Given the description of an element on the screen output the (x, y) to click on. 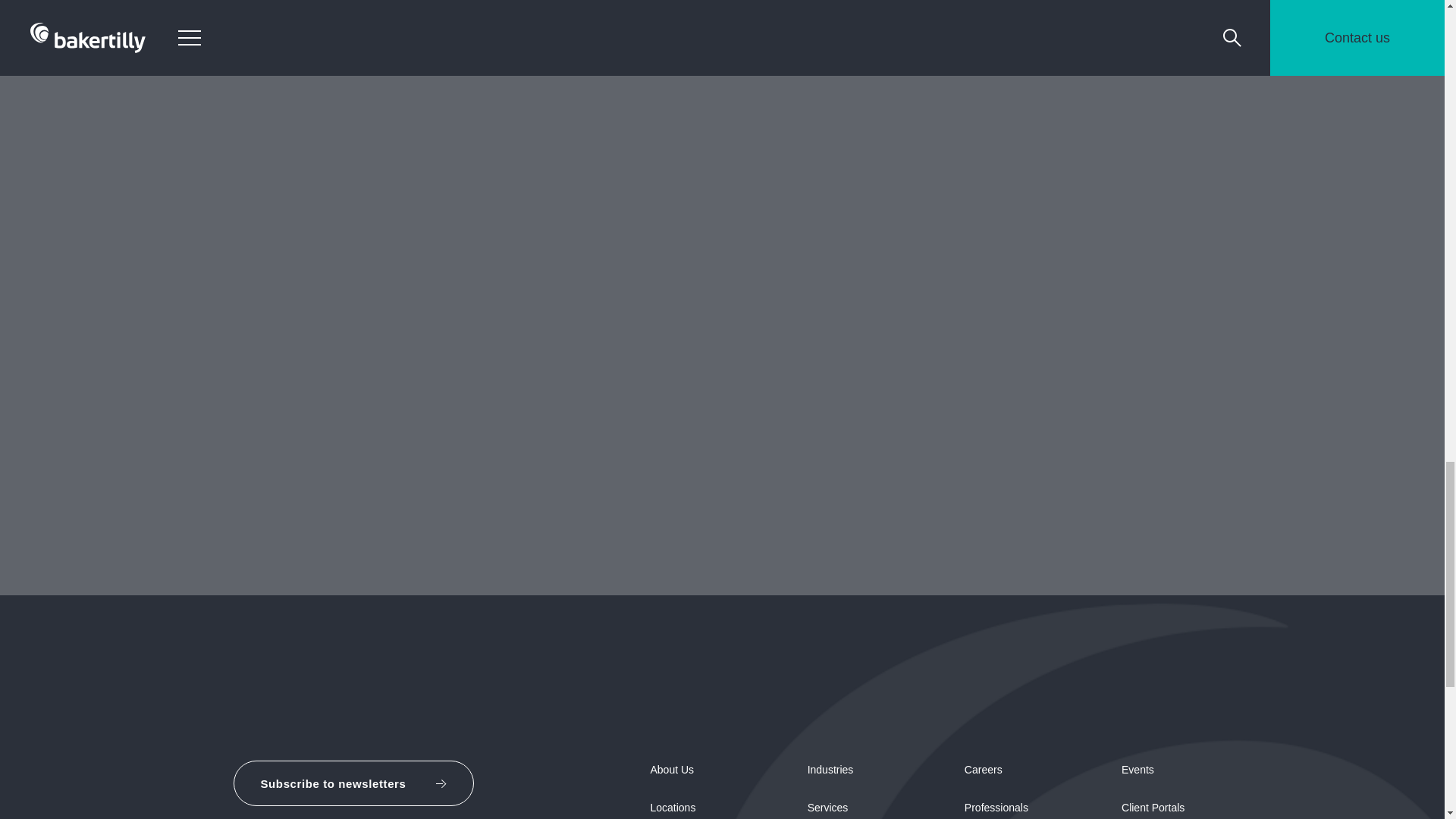
Professionals (995, 807)
Client Portals (1153, 807)
About Us (671, 769)
Industries (830, 769)
Locations (672, 807)
Subscribe to newsletters (353, 782)
Careers (983, 769)
Services (828, 807)
Events (1137, 769)
